Given the description of an element on the screen output the (x, y) to click on. 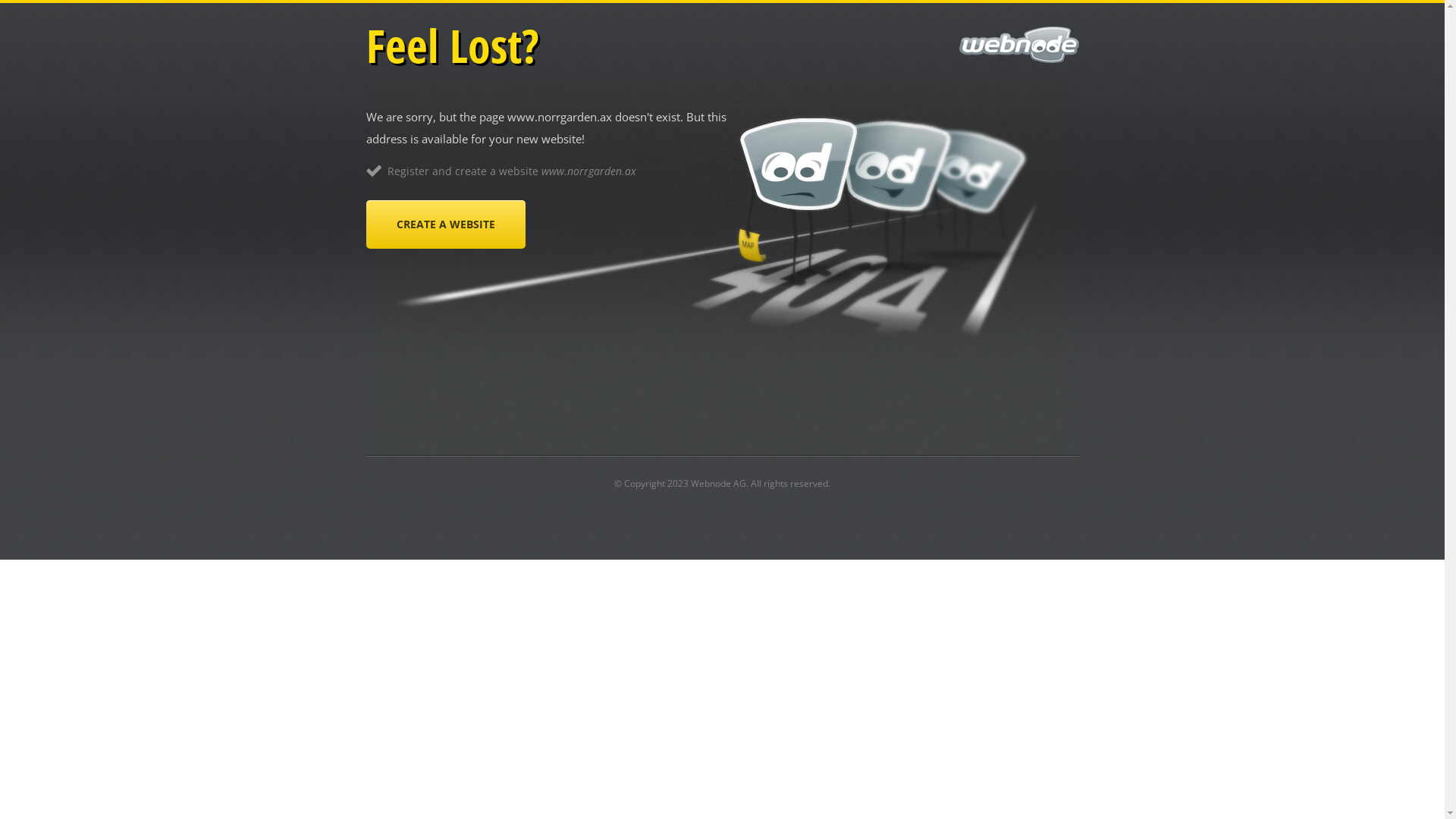
CREATE A WEBSITE Element type: text (444, 224)
Webnode AG Element type: text (718, 482)
